Given the description of an element on the screen output the (x, y) to click on. 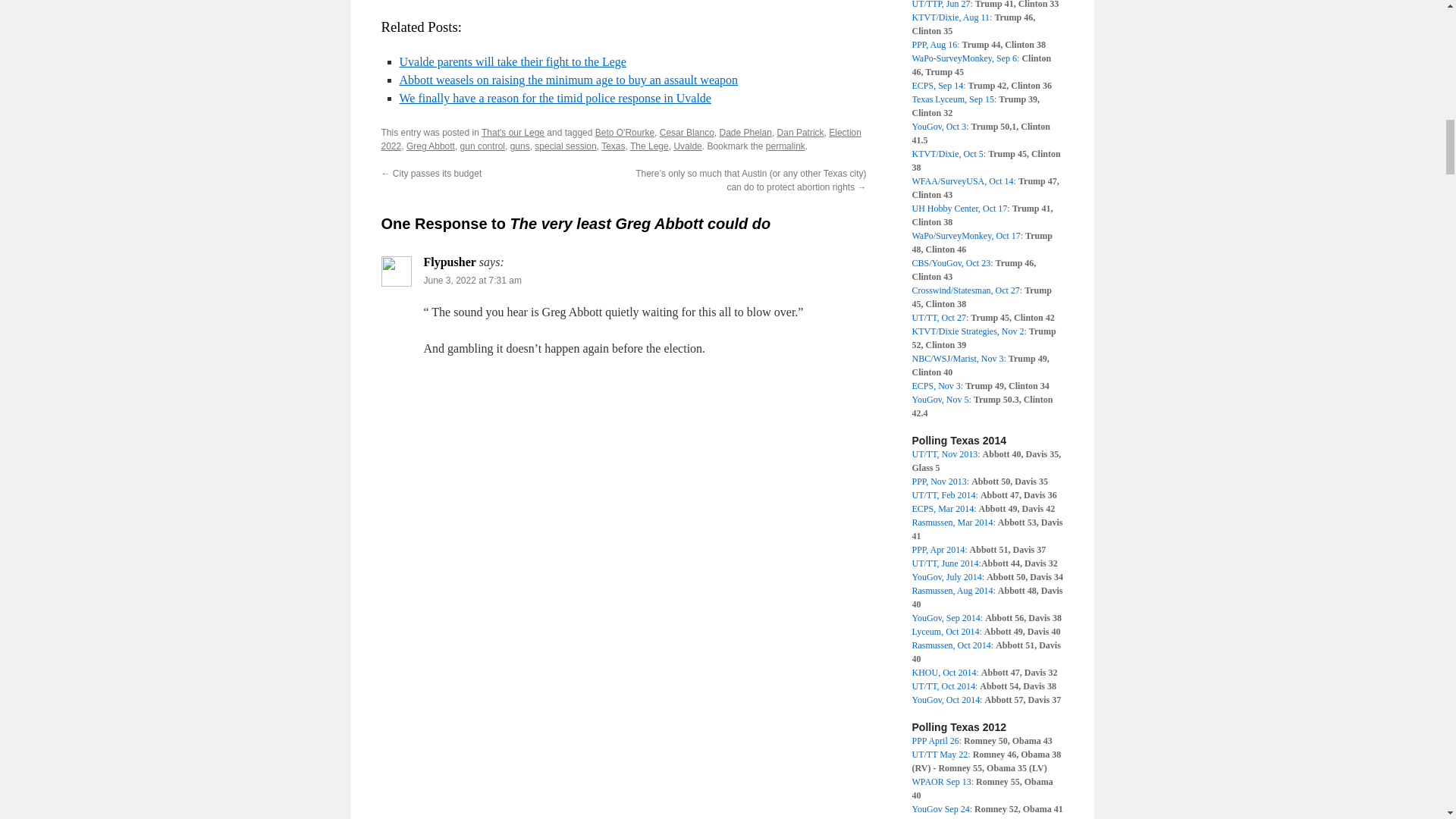
Uvalde (686, 145)
Uvalde parents will take their fight to the Lege (512, 61)
That's our Lege (512, 132)
Cesar Blanco (686, 132)
Election 2022 (620, 139)
Permalink to The very least Greg Abbott could do (785, 145)
Beto O'Rourke (624, 132)
permalink (785, 145)
June 3, 2022 at 7:31 am (472, 280)
special session (564, 145)
The Lege (649, 145)
Texas (612, 145)
